Given the description of an element on the screen output the (x, y) to click on. 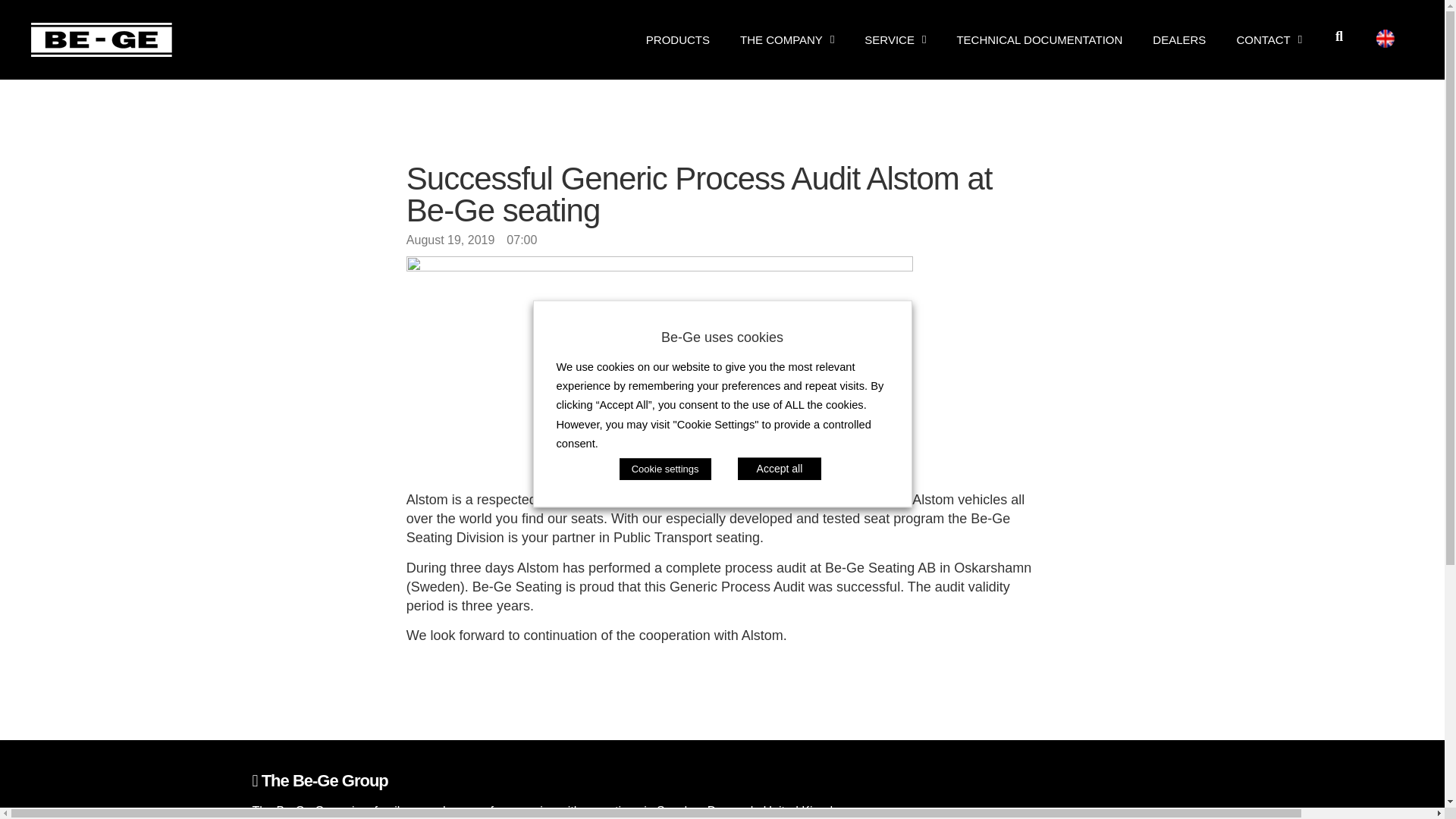
English (1384, 37)
PRODUCTS (677, 39)
TECHNICAL DOCUMENTATION (1038, 39)
SERVICE (894, 39)
THE COMPANY (786, 39)
DEALERS (1179, 39)
Driver Seats Passenger Seats and Office Chairs (101, 39)
CONTACT (1269, 39)
